Given the description of an element on the screen output the (x, y) to click on. 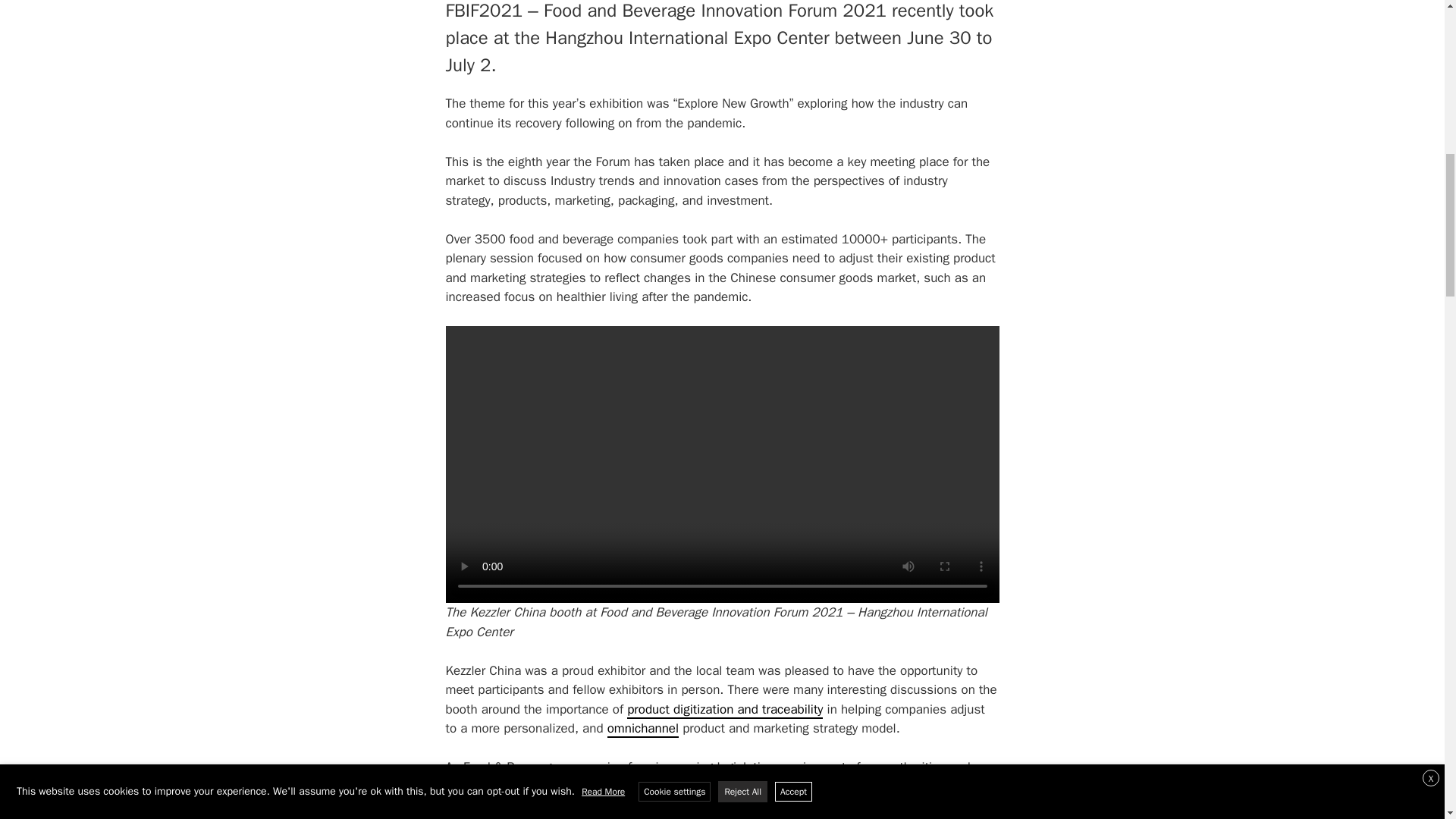
product digitization and traceability (724, 710)
Scroll back to top (1406, 720)
omnichannel (642, 728)
